Given the description of an element on the screen output the (x, y) to click on. 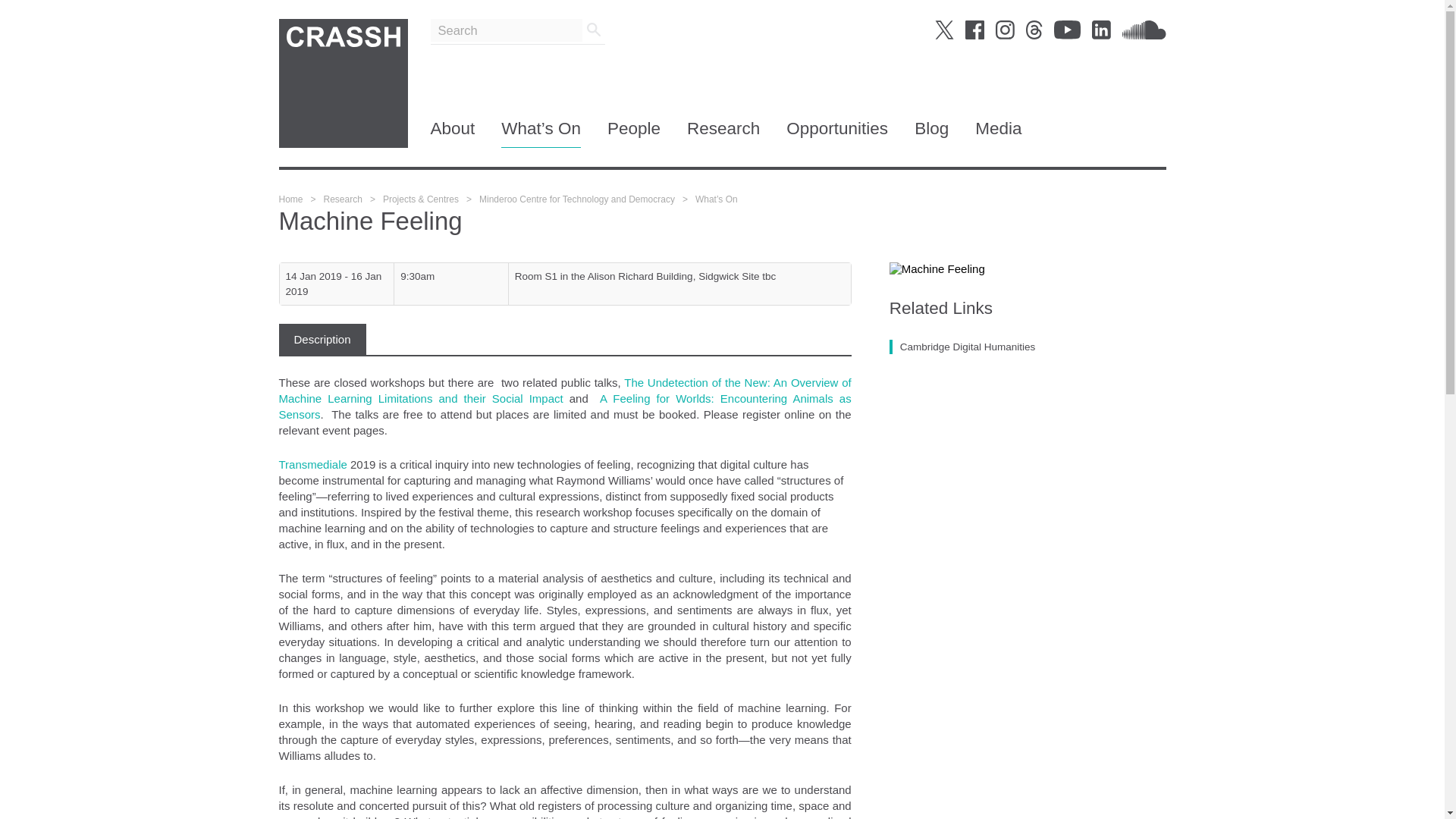
About (453, 132)
Cambridge Digital Humanities (962, 346)
Media (998, 132)
Minderoo Centre for Technology and Democracy (577, 199)
Home (290, 199)
Research (342, 199)
A Feeling for Worlds: Encountering Animals as Sensors (565, 406)
Research (723, 132)
Transmediale (313, 463)
People (634, 132)
